Given the description of an element on the screen output the (x, y) to click on. 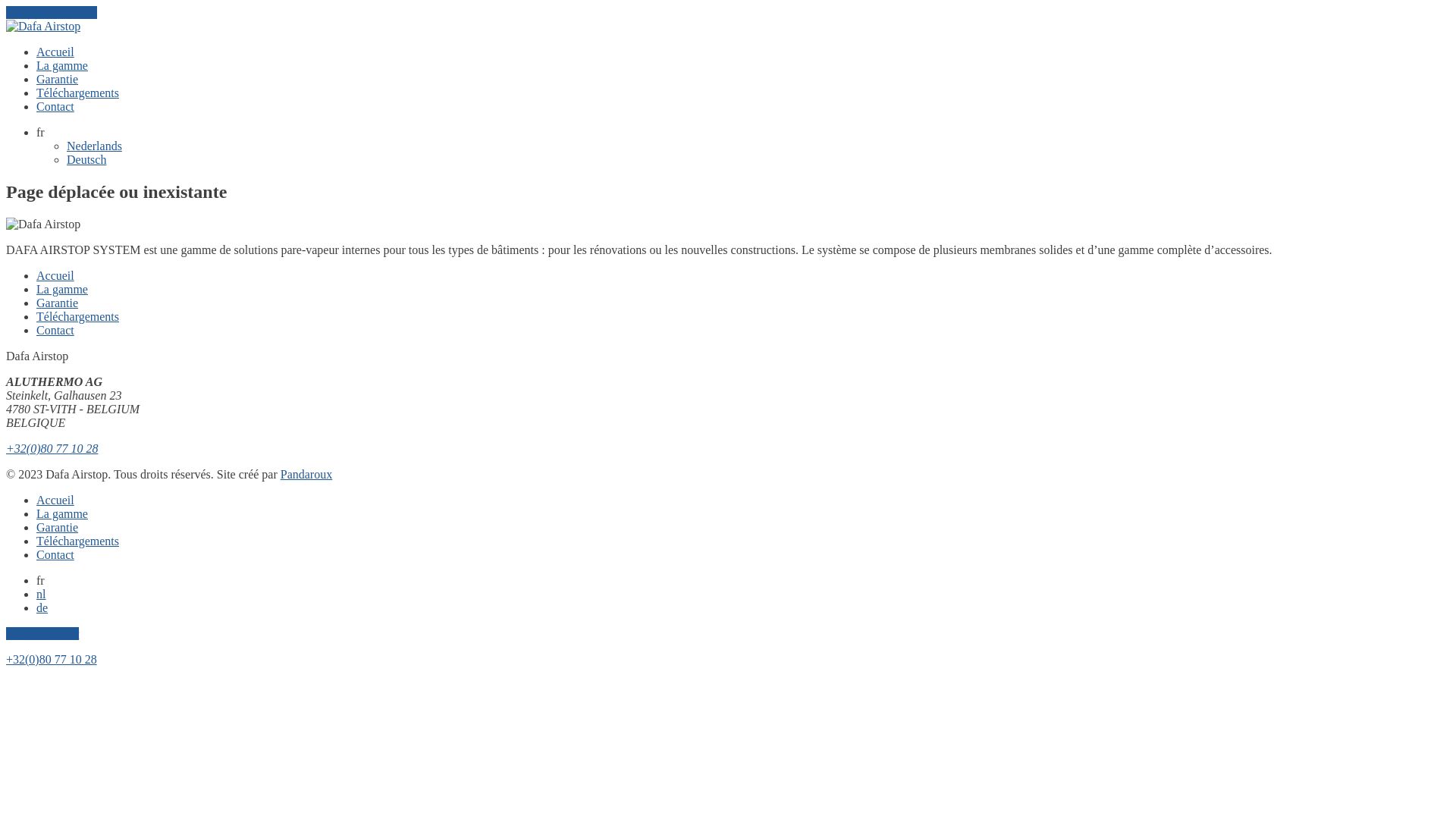
Nederlands Element type: text (94, 145)
+32(0)80 77 10 28 Element type: text (51, 448)
+32(0)80 77 10 28 Element type: text (51, 12)
La gamme Element type: text (61, 288)
Garantie Element type: text (57, 78)
+32(0)80 77 10 28 Element type: text (51, 658)
Accueil Element type: text (55, 275)
Pandaroux Element type: text (306, 473)
Contact Element type: text (55, 106)
La gamme Element type: text (61, 513)
Accueil Element type: text (55, 51)
Nous contacter Element type: text (42, 633)
nl Element type: text (40, 593)
La gamme Element type: text (61, 65)
Deutsch Element type: text (86, 159)
Contact Element type: text (55, 554)
Accueil Element type: text (55, 499)
Contact Element type: text (55, 329)
Garantie Element type: text (57, 302)
de Element type: text (41, 607)
Garantie Element type: text (57, 526)
